Given the description of an element on the screen output the (x, y) to click on. 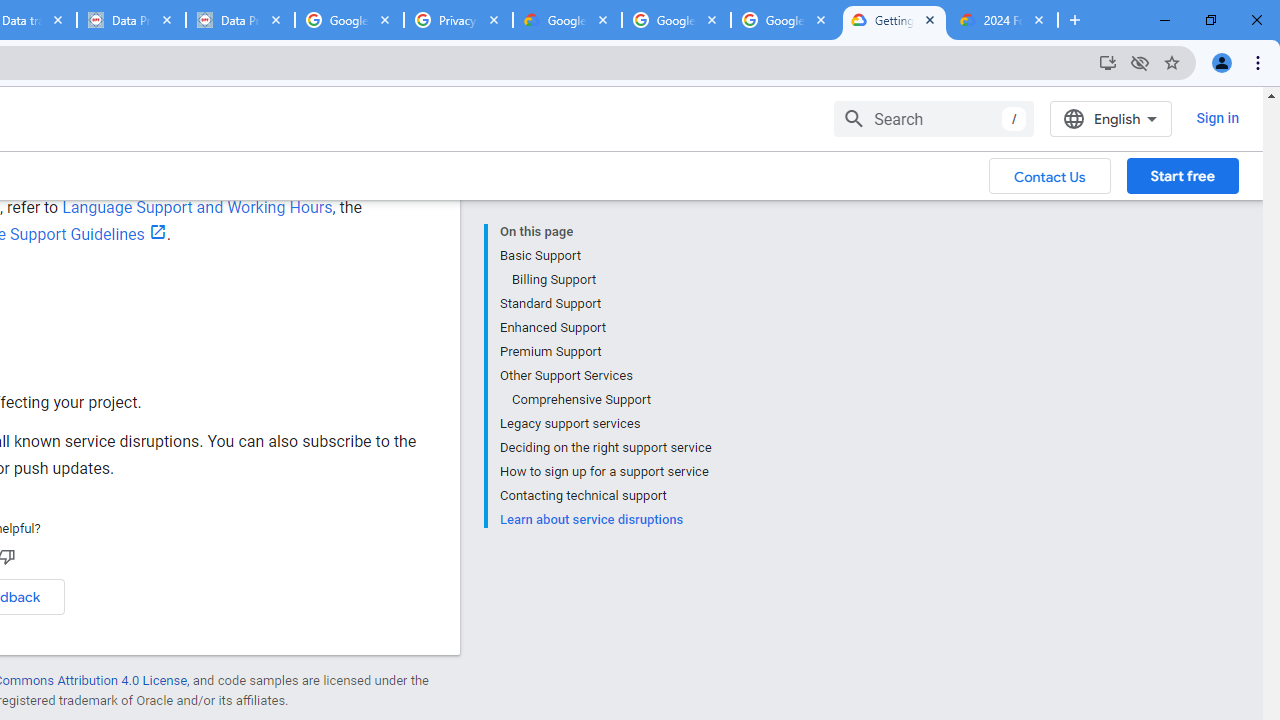
Contacting technical support (605, 495)
How to sign up for a support service (605, 471)
Google Workspace - Specific Terms (784, 20)
Data Privacy Framework (130, 20)
English (1110, 118)
Legacy support services (605, 423)
Other Support Services (605, 376)
Contact Us (1050, 175)
Basic Support (605, 255)
Data Privacy Framework (240, 20)
